Given the description of an element on the screen output the (x, y) to click on. 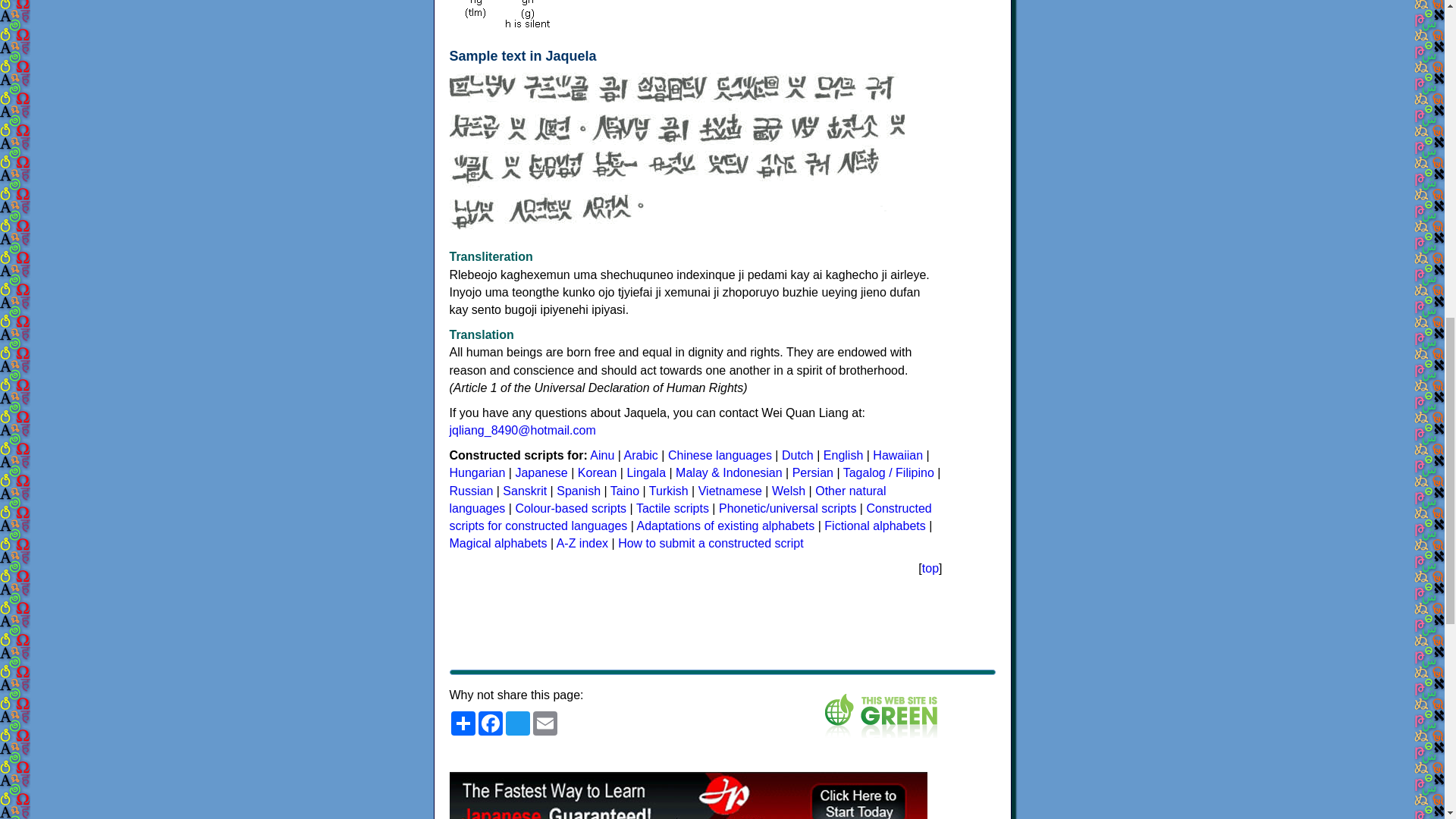
Arabic (641, 454)
Tactile scripts (672, 508)
Turkish (668, 490)
Vietnamese (729, 490)
Other natural languages (666, 499)
Hungarian (476, 472)
Ainu (601, 454)
Spanish (577, 490)
Hawaiian (897, 454)
Persian (812, 472)
